Given the description of an element on the screen output the (x, y) to click on. 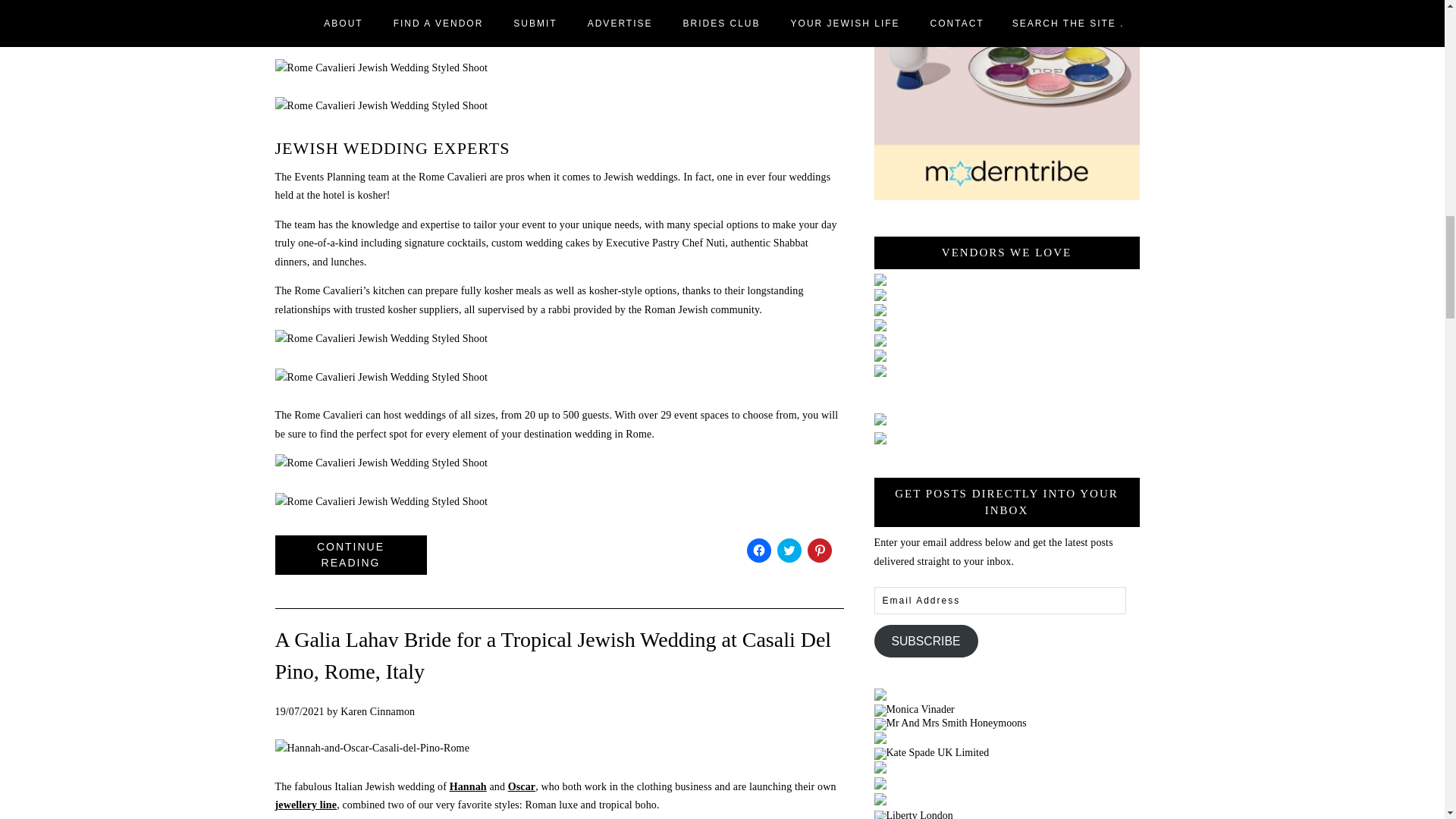
Click to share on Pinterest (818, 550)
Click to share on Twitter (788, 550)
Click to share on Facebook (757, 550)
